Given the description of an element on the screen output the (x, y) to click on. 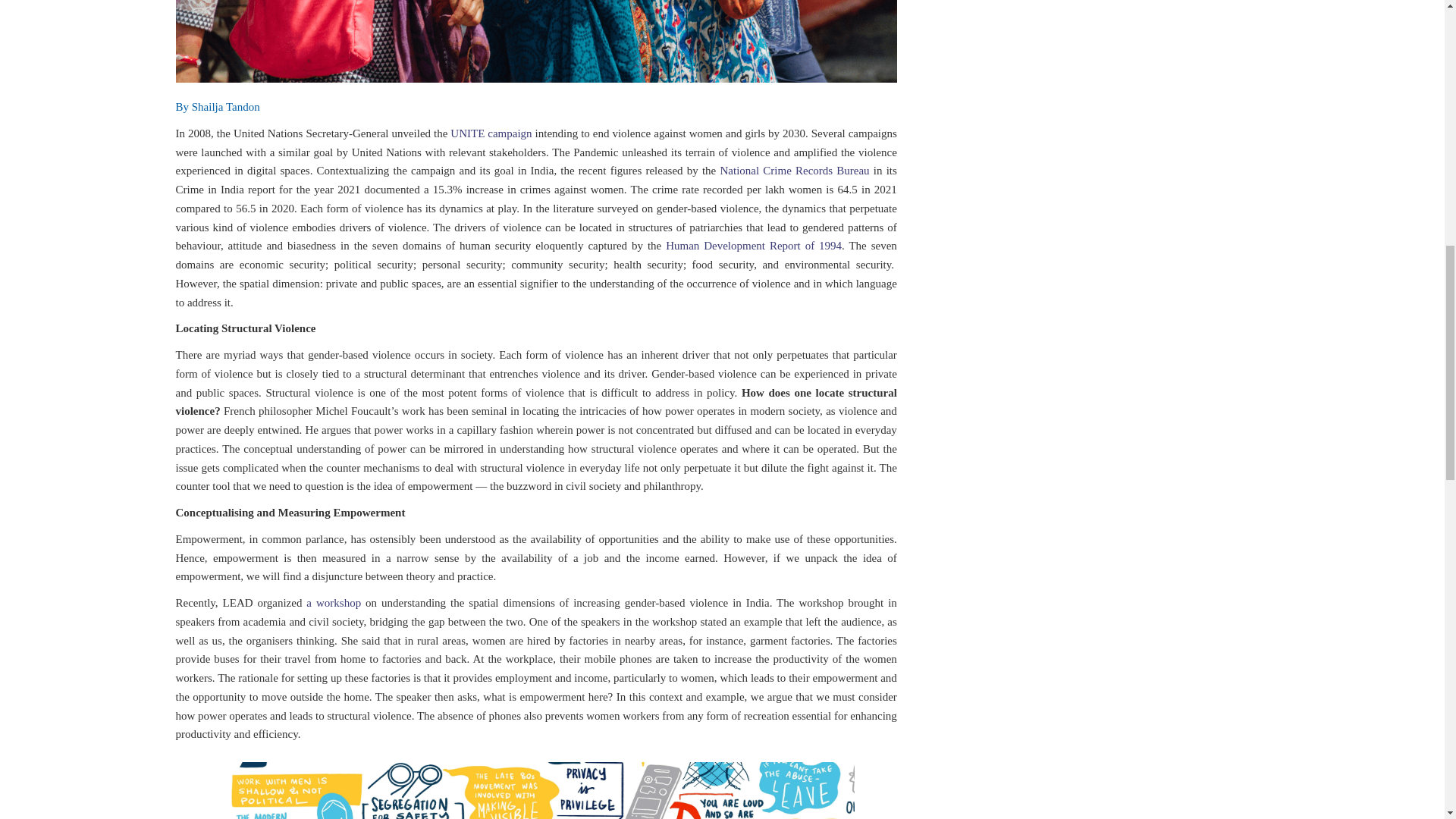
UNITE campaign (490, 133)
National Crime Records Bureau (794, 170)
